Given the description of an element on the screen output the (x, y) to click on. 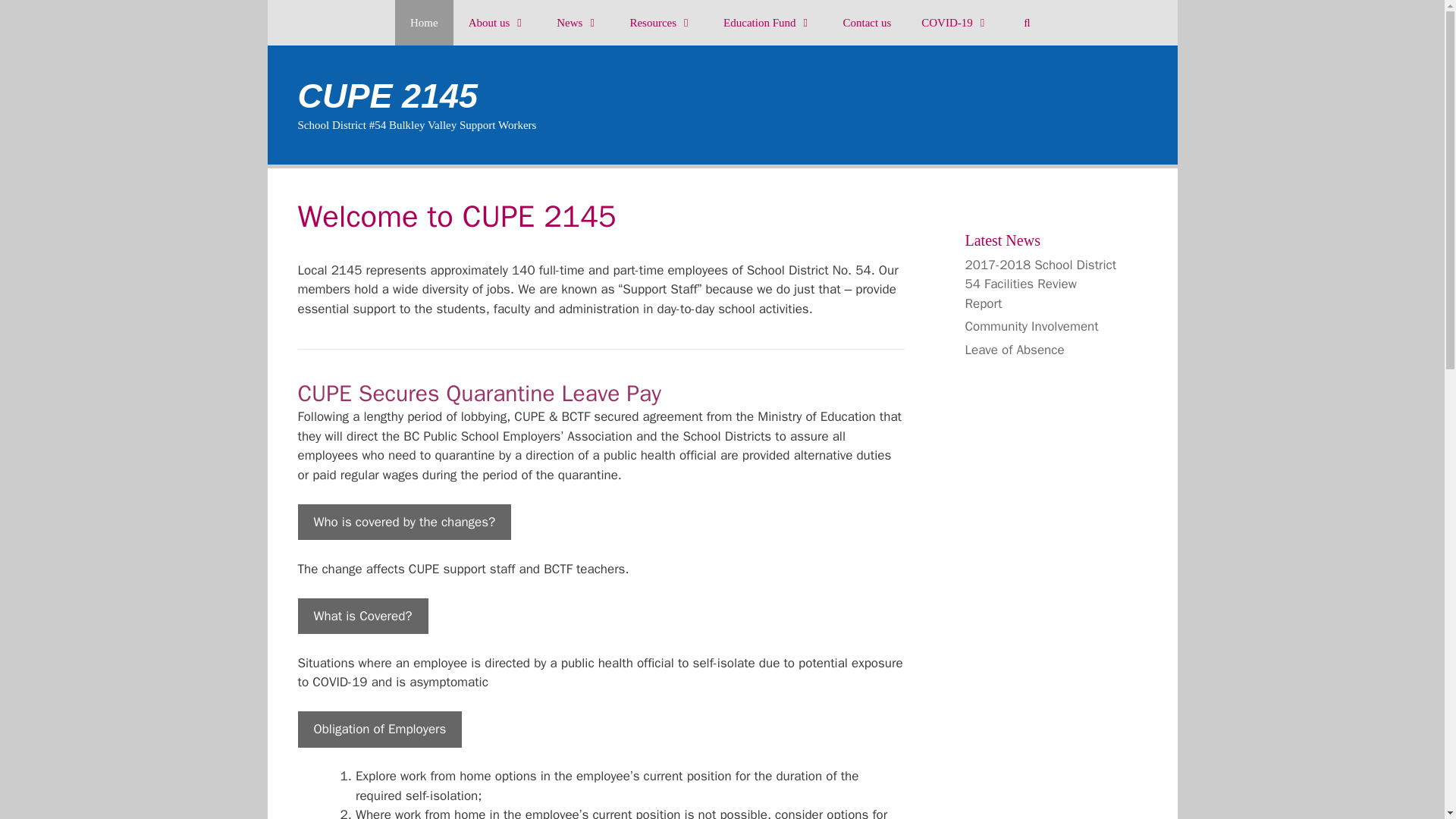
Resources (660, 22)
News (577, 22)
Leave of Absence (1013, 349)
CUPE 2145 (387, 95)
Contact us (866, 22)
Community Involvement (1030, 326)
Education Fund (767, 22)
Obligation of Employers (379, 729)
2017-2018 School District 54 Facilities Review Report (1039, 283)
Home (423, 22)
